Given the description of an element on the screen output the (x, y) to click on. 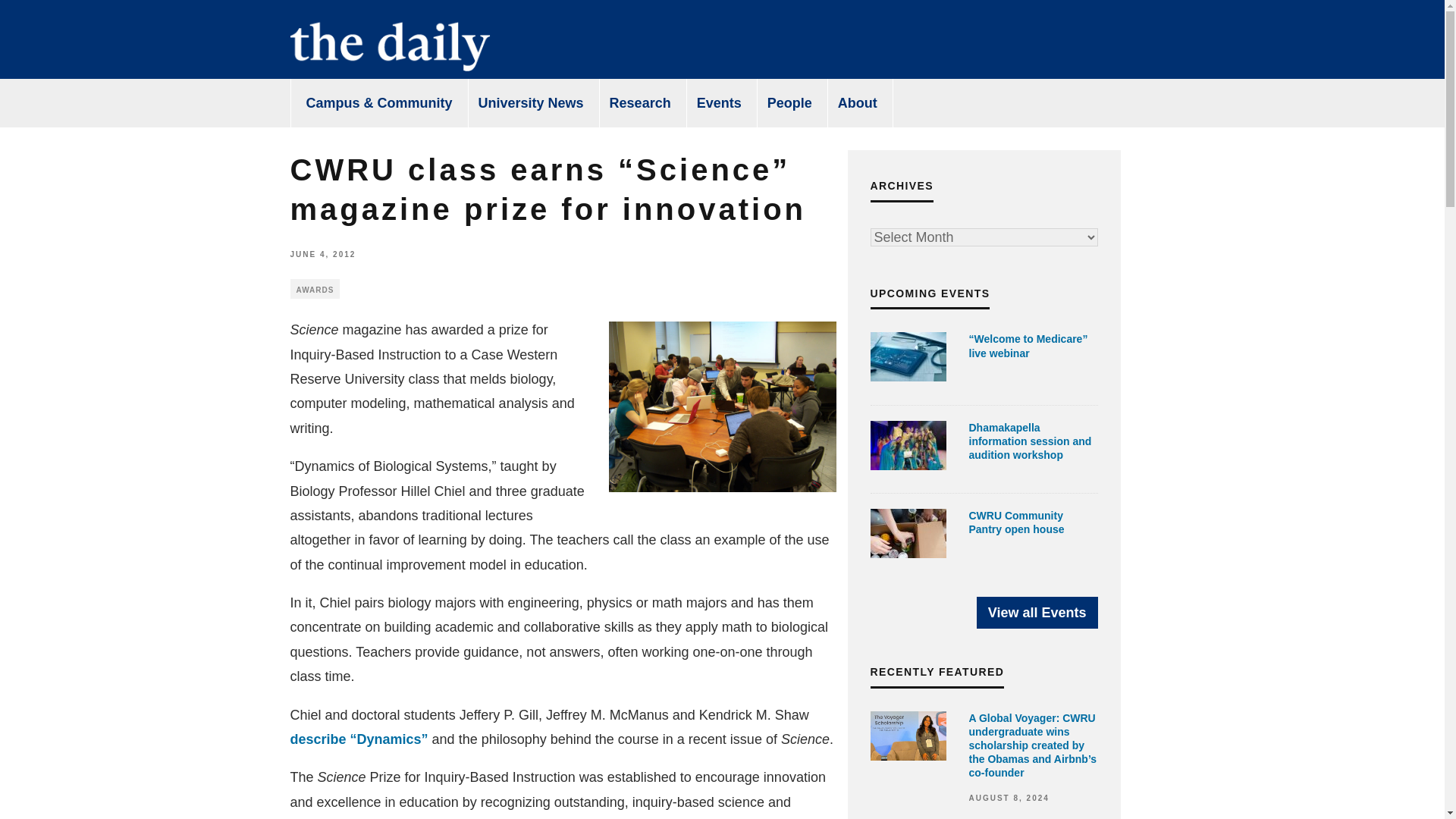
About (857, 102)
Events (719, 102)
Dhamakapella information session and audition workshop (1030, 441)
People (790, 102)
University News (531, 102)
Figure1---StudentsInClassroom (721, 406)
AWARDS (314, 288)
Research (640, 102)
